Given the description of an element on the screen output the (x, y) to click on. 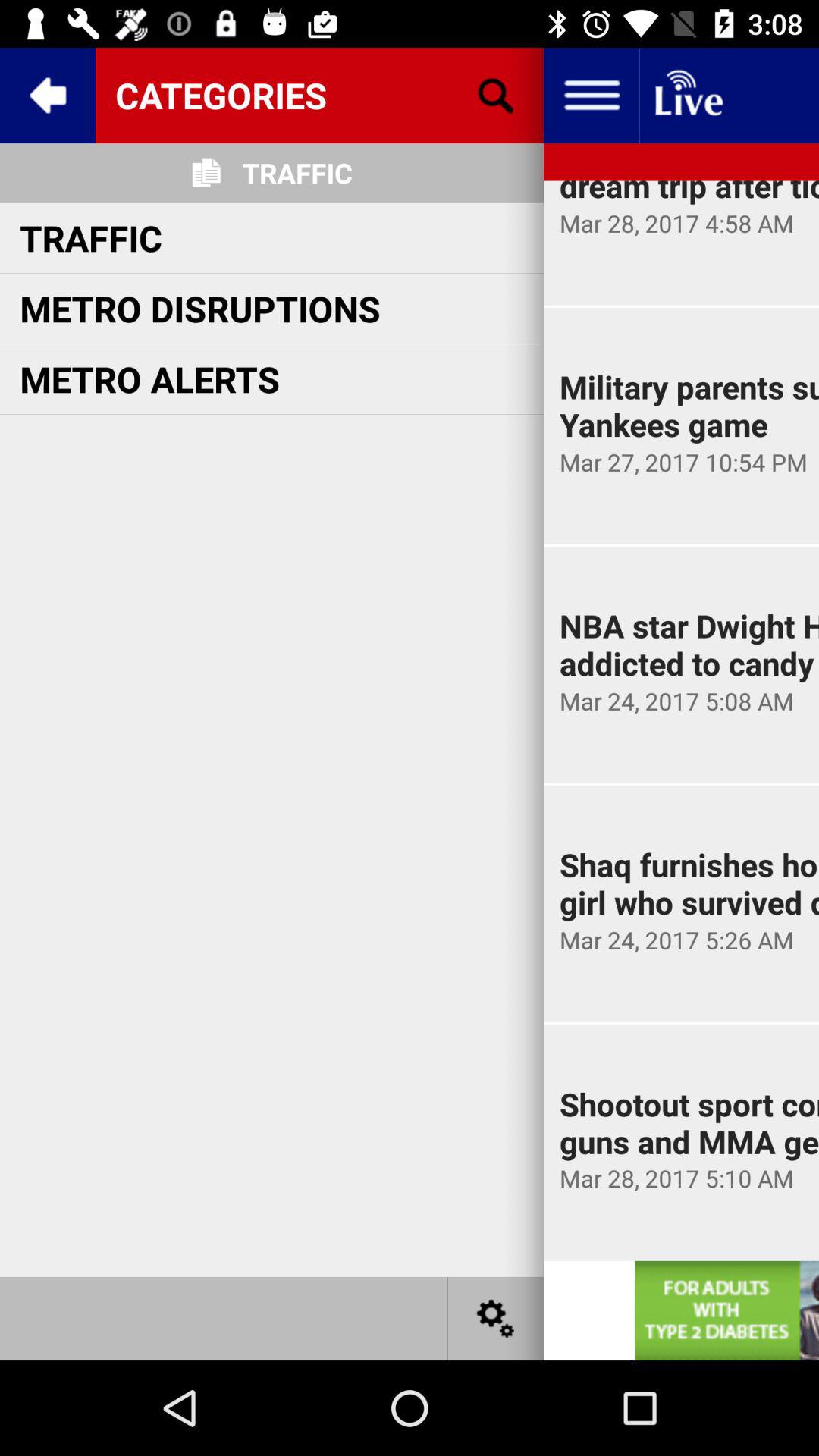
announcement (726, 1310)
